Given the description of an element on the screen output the (x, y) to click on. 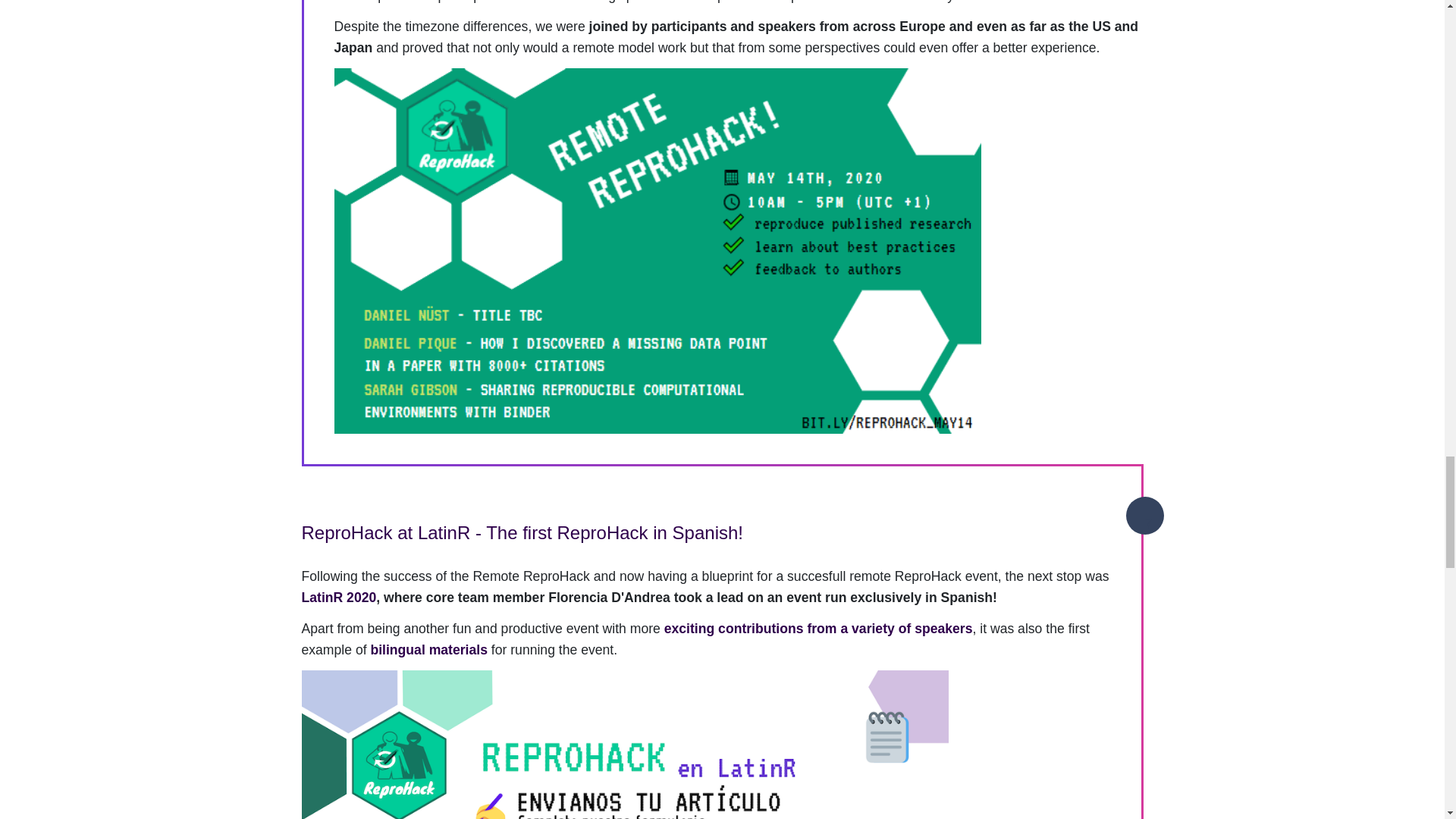
exciting contributions from a variety of speakers (817, 628)
bilingual materials (429, 649)
LatinR 2020 (339, 597)
